Given the description of an element on the screen output the (x, y) to click on. 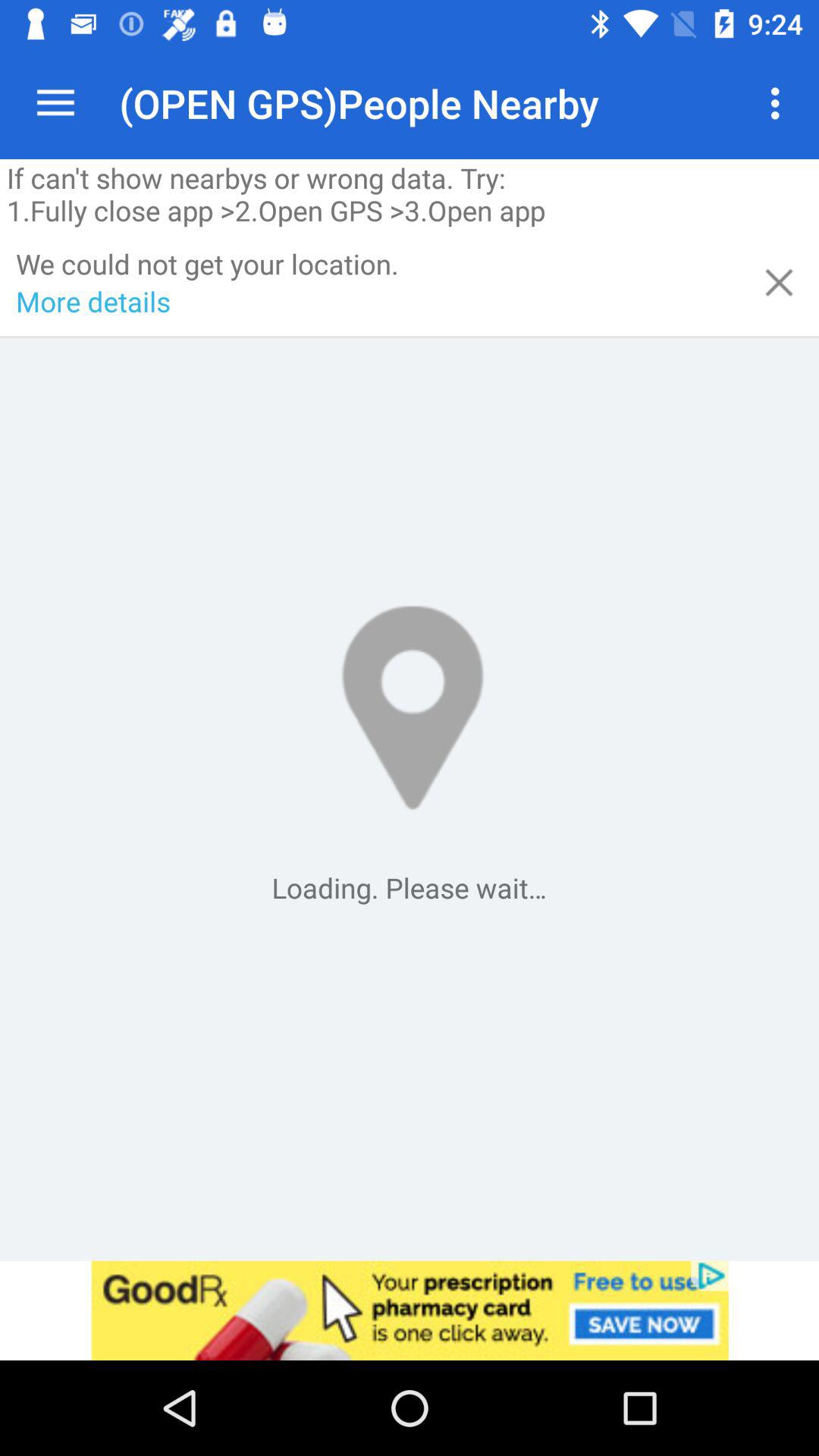
close screen (779, 282)
